Given the description of an element on the screen output the (x, y) to click on. 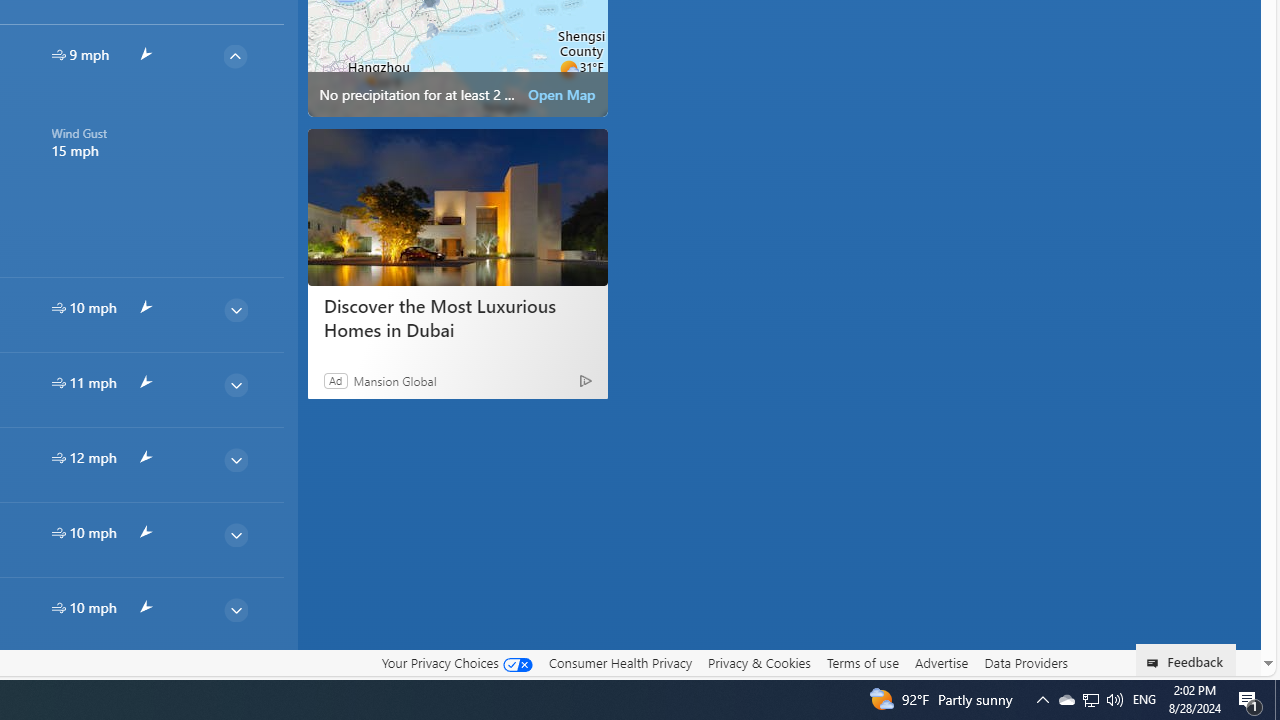
Terms of use (861, 662)
Advertise (940, 663)
Data Providers (1025, 662)
Advertise (940, 662)
Your Privacy Choices (456, 663)
Data Providers (1025, 663)
Consumer Health Privacy (619, 662)
Discover the Most Luxurious Homes in Dubai (457, 206)
common/thinArrow (235, 684)
Open Map (561, 94)
Terms of use (861, 663)
Privacy & Cookies (759, 663)
Privacy & Cookies (759, 662)
